Given the description of an element on the screen output the (x, y) to click on. 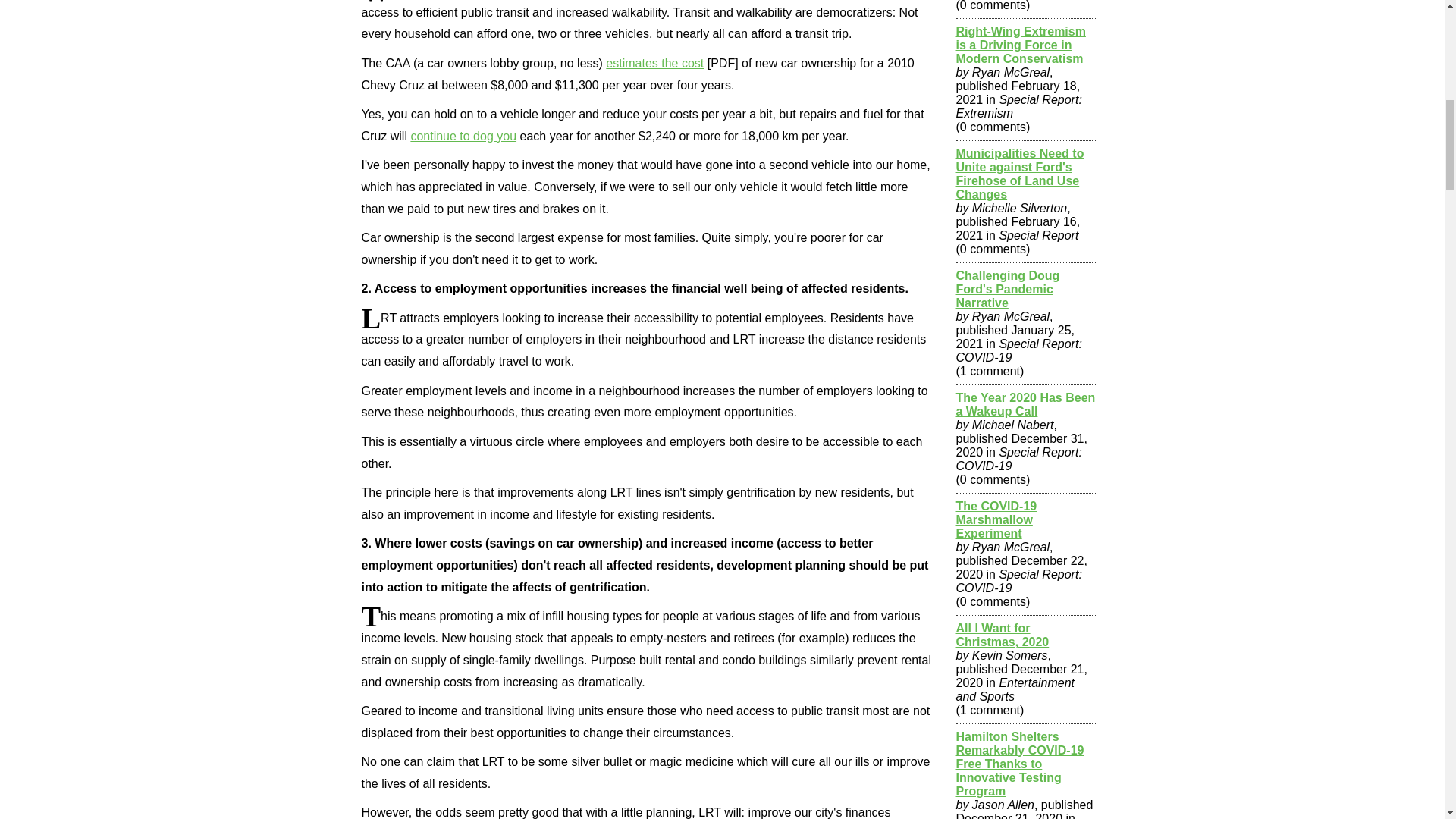
continue to dog you (463, 135)
estimates the cost (654, 62)
